Given the description of an element on the screen output the (x, y) to click on. 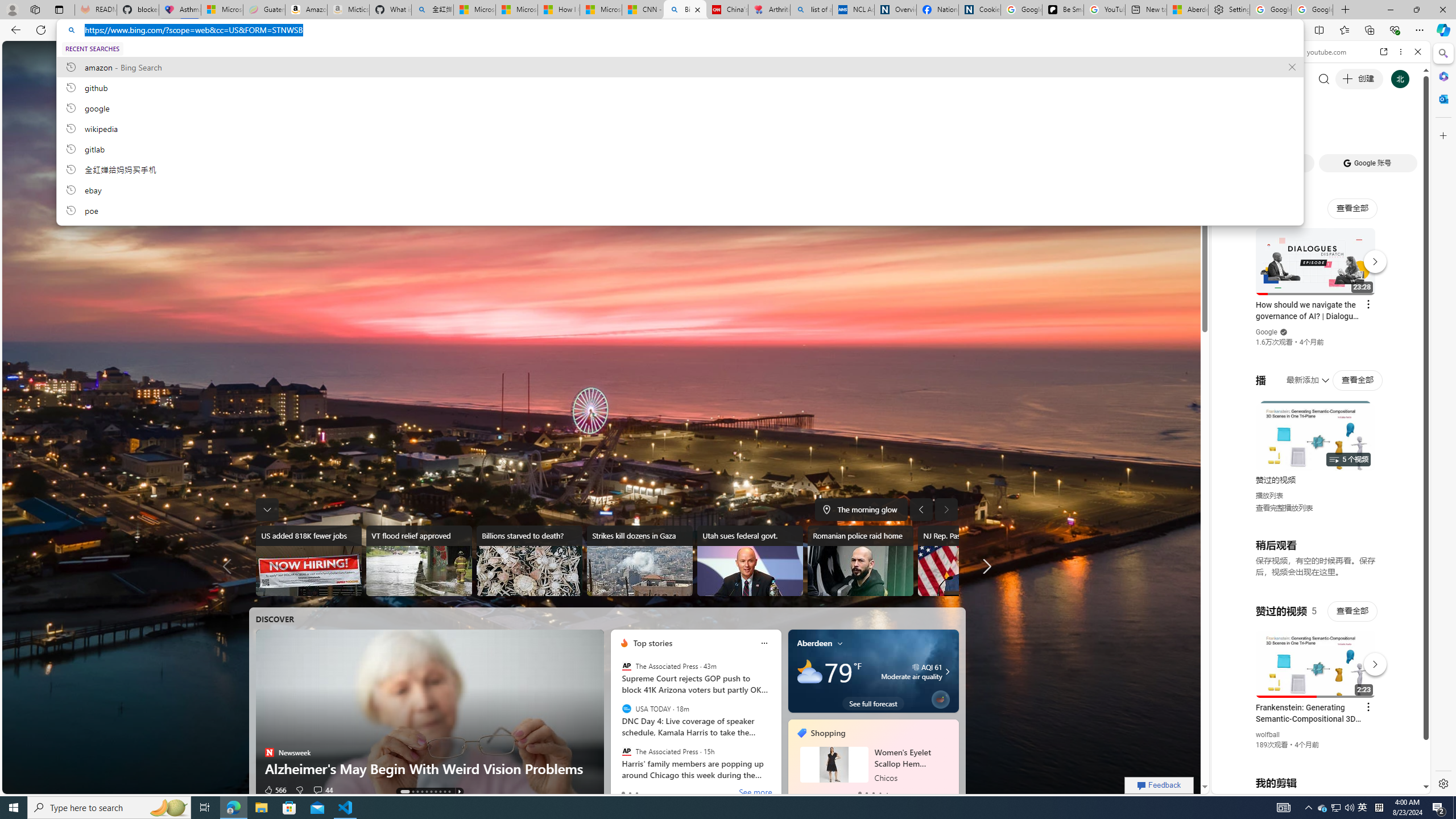
Top stories (652, 643)
Learn more (836, 205)
Utah sues federal govt. (750, 560)
My location (839, 643)
Cookies (979, 9)
Videos (363, 54)
YouTube - YouTube (1315, 560)
#you (1320, 253)
News (493, 53)
Back (1225, 51)
list of asthma inhalers uk - Search (810, 9)
